Given the description of an element on the screen output the (x, y) to click on. 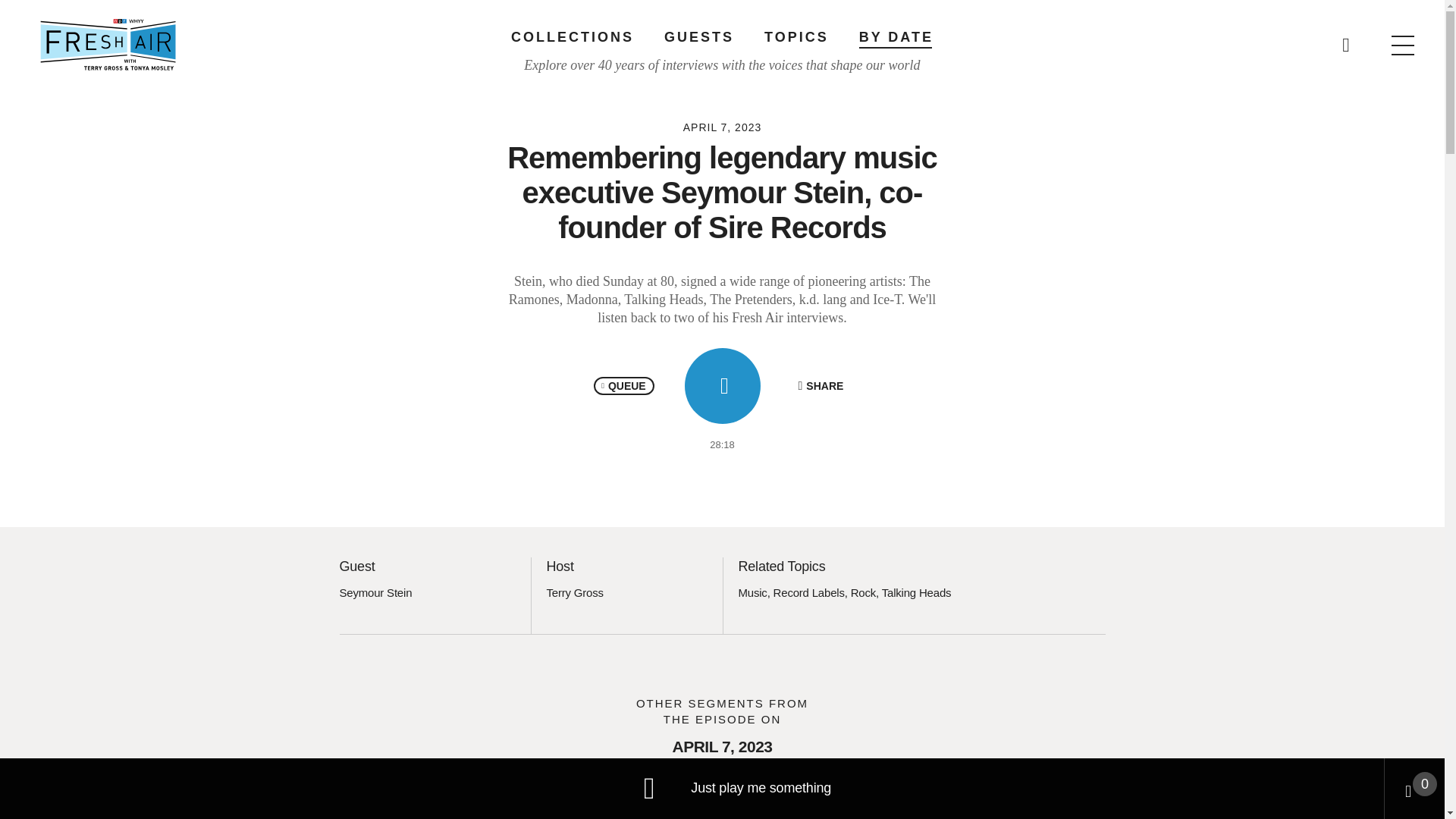
Home (108, 44)
Search (964, 37)
COLLECTIONS (572, 36)
Terry Gross (574, 592)
TOPICS (796, 36)
BY DATE (896, 36)
GUESTS (698, 36)
Seymour Stein (375, 592)
QUEUE (622, 385)
SHARE (820, 385)
